Given the description of an element on the screen output the (x, y) to click on. 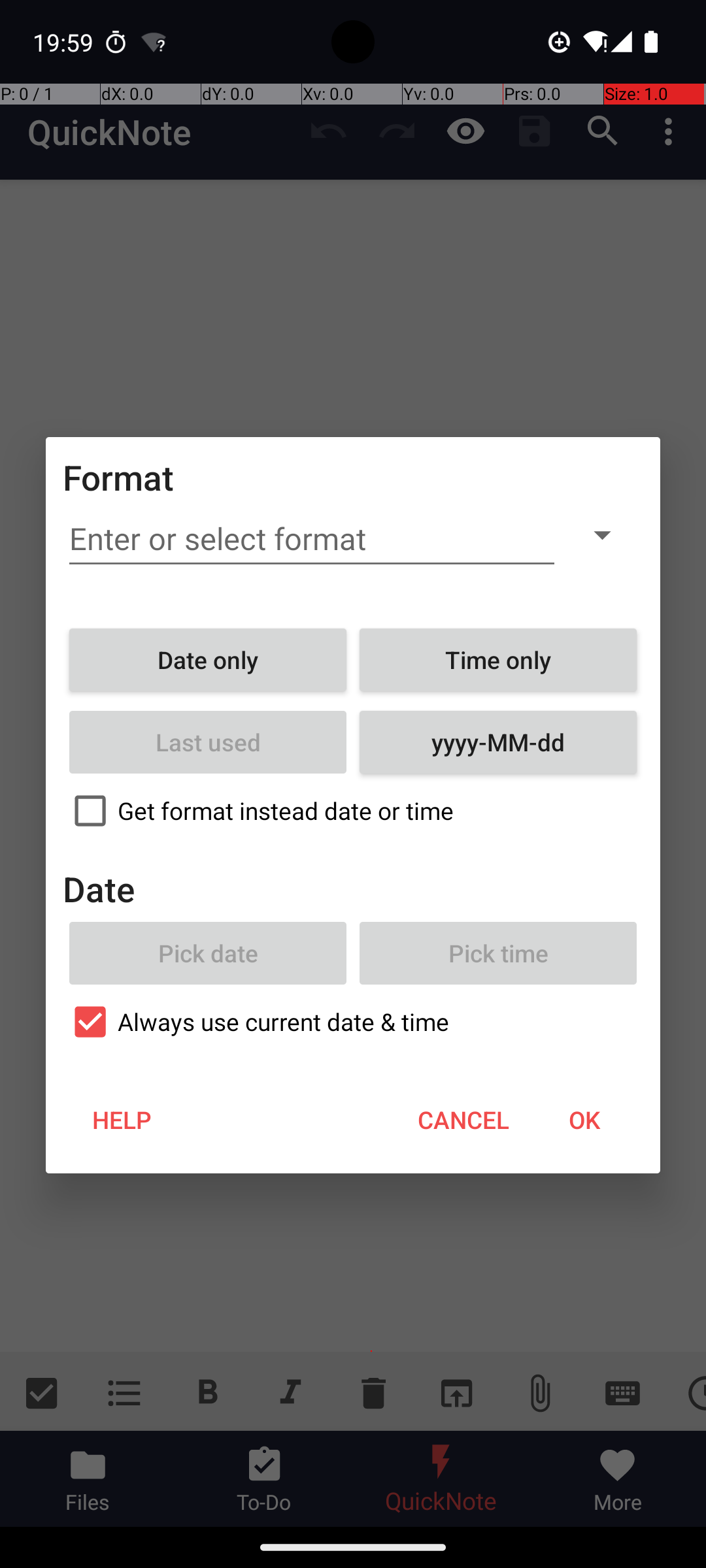
19:59 Element type: android.widget.TextView (64, 41)
